Given the description of an element on the screen output the (x, y) to click on. 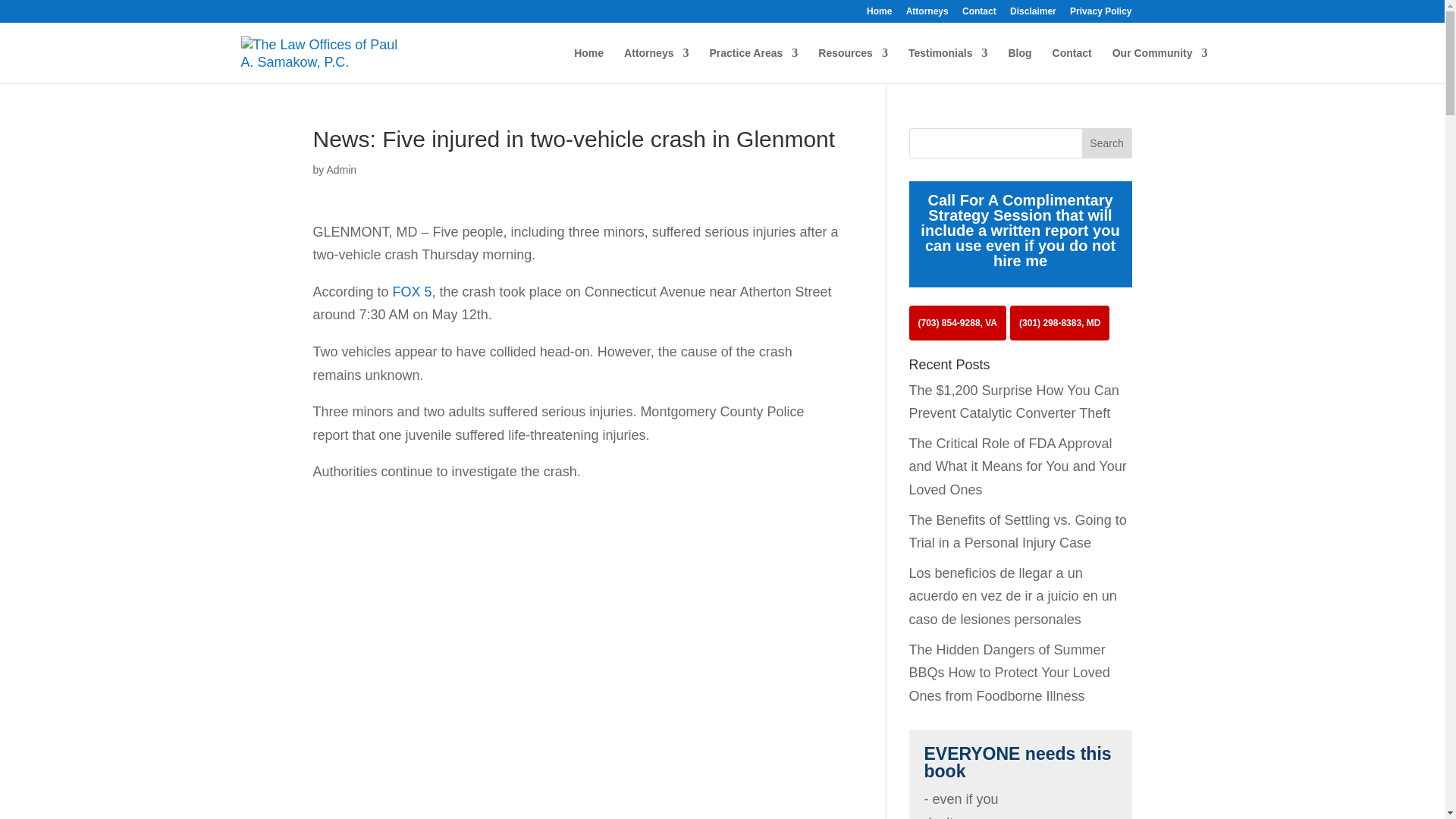
Home (878, 14)
Contact (978, 14)
Testimonials (948, 65)
Attorneys (927, 14)
Search (1106, 142)
Resources (853, 65)
Attorneys (656, 65)
Disclaimer (1033, 14)
Practice Areas (753, 65)
Privacy Policy (1100, 14)
